Given the description of an element on the screen output the (x, y) to click on. 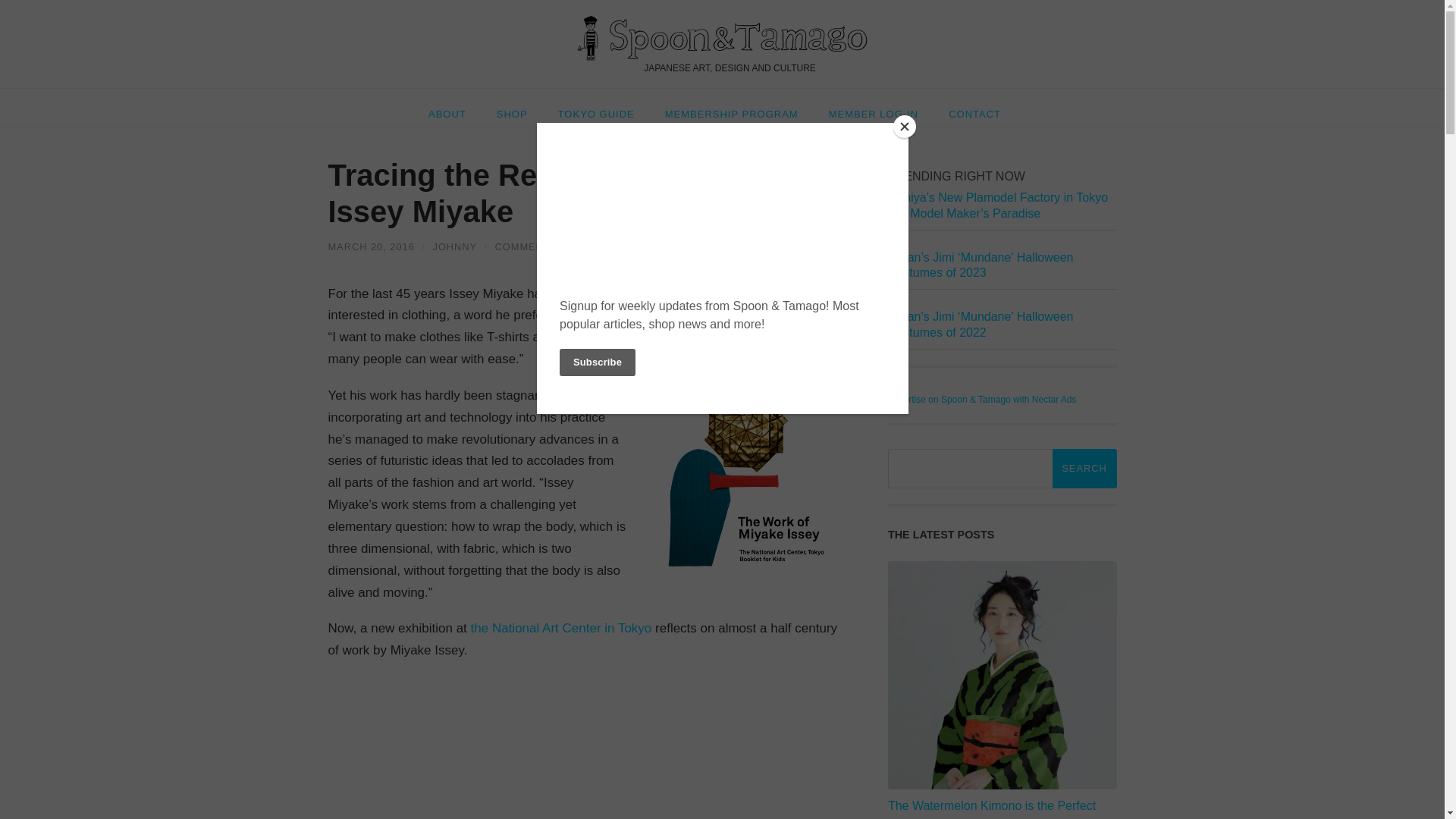
MEMBERSHIP PROGRAM (731, 107)
MARCH 20, 2016 (370, 246)
Tracing the Revolutionary Work of Issey Miyake (370, 246)
Tracing the Revolutionary Work of Issey Miyake (574, 193)
CONTACT (974, 107)
JAPANESE ART, DESIGN AND CULTURE (721, 43)
JOHNNY (454, 246)
Search (1084, 468)
ABOUT (454, 107)
MEMBER LOG-IN (873, 107)
the National Art Center in Tokyo (561, 627)
TOKYO GUIDE (596, 107)
SHOP (512, 107)
Tracing the Revolutionary Work of Issey Miyake (574, 193)
Posts by Johnny (454, 246)
